Given the description of an element on the screen output the (x, y) to click on. 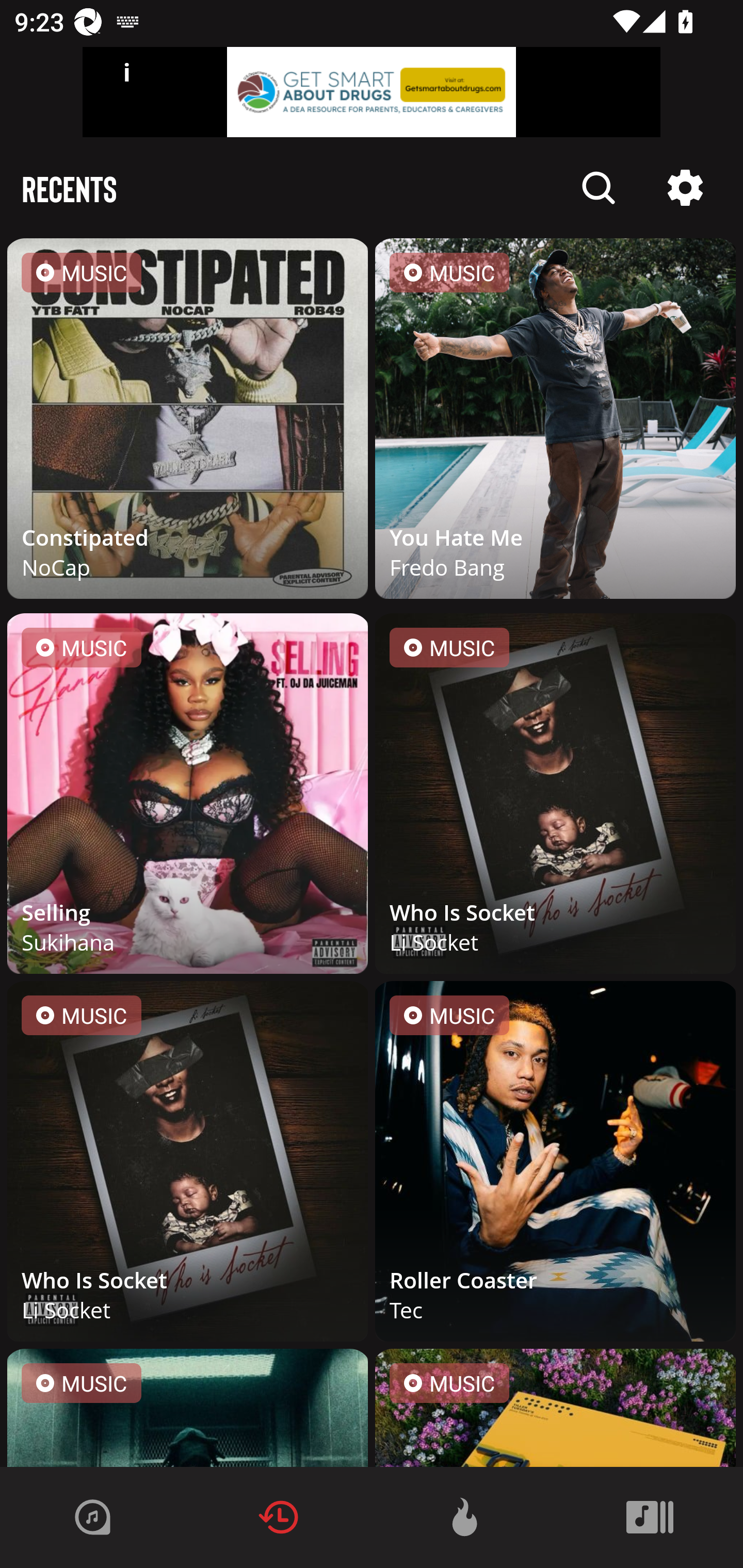
Description (598, 188)
Description (684, 188)
MUSIC Constipated NoCap (187, 422)
MUSIC You Hate Me Fredo Bang (555, 422)
MUSIC Selling Sukihana (187, 797)
MUSIC Who Is Socket Li Socket (555, 797)
MUSIC Who Is Socket Li Socket (187, 1164)
MUSIC Roller Coaster Tec (555, 1164)
